Given the description of an element on the screen output the (x, y) to click on. 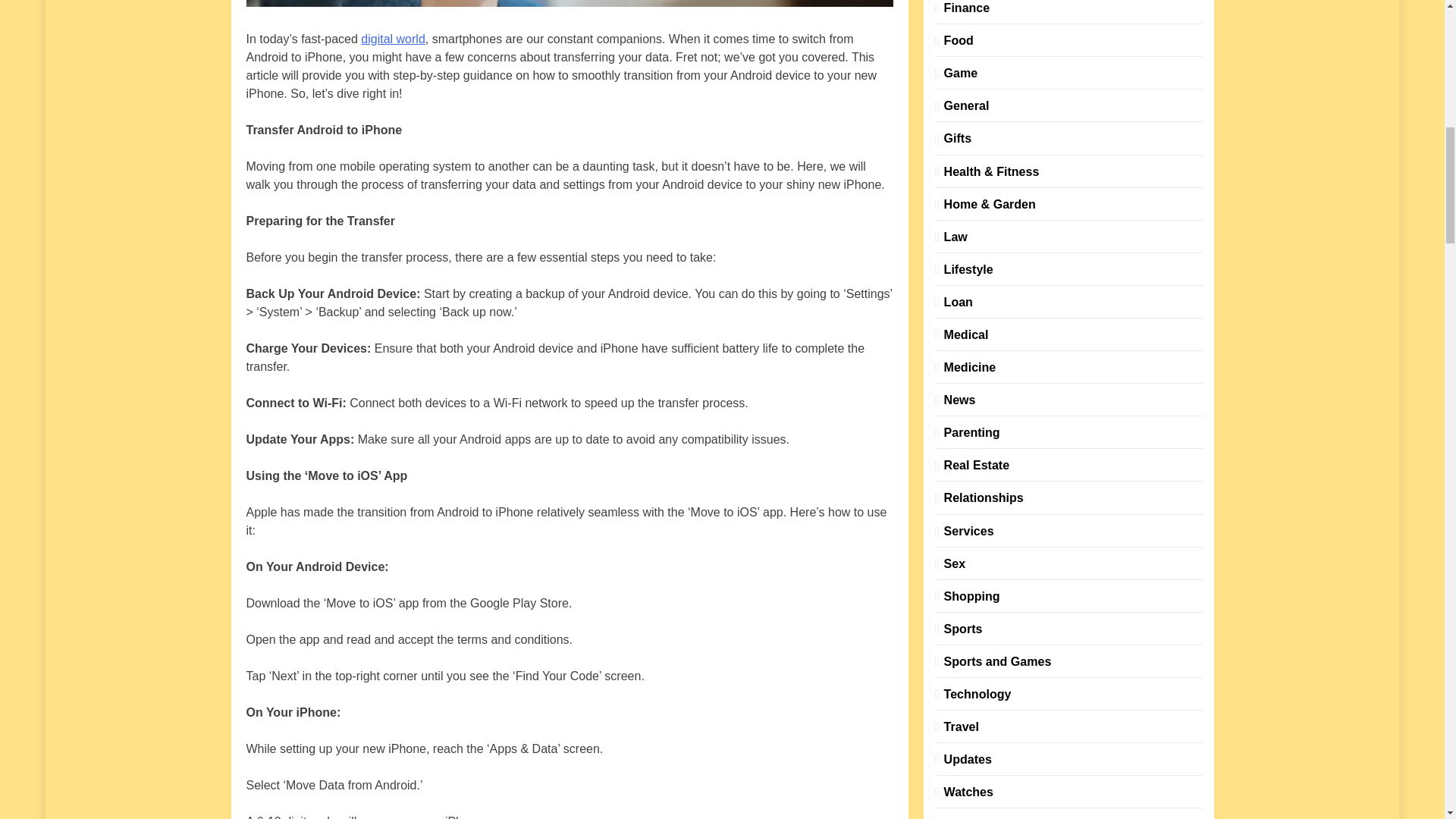
Transfer Android To Iphone: A Comprehensive Guide (569, 3)
